Given the description of an element on the screen output the (x, y) to click on. 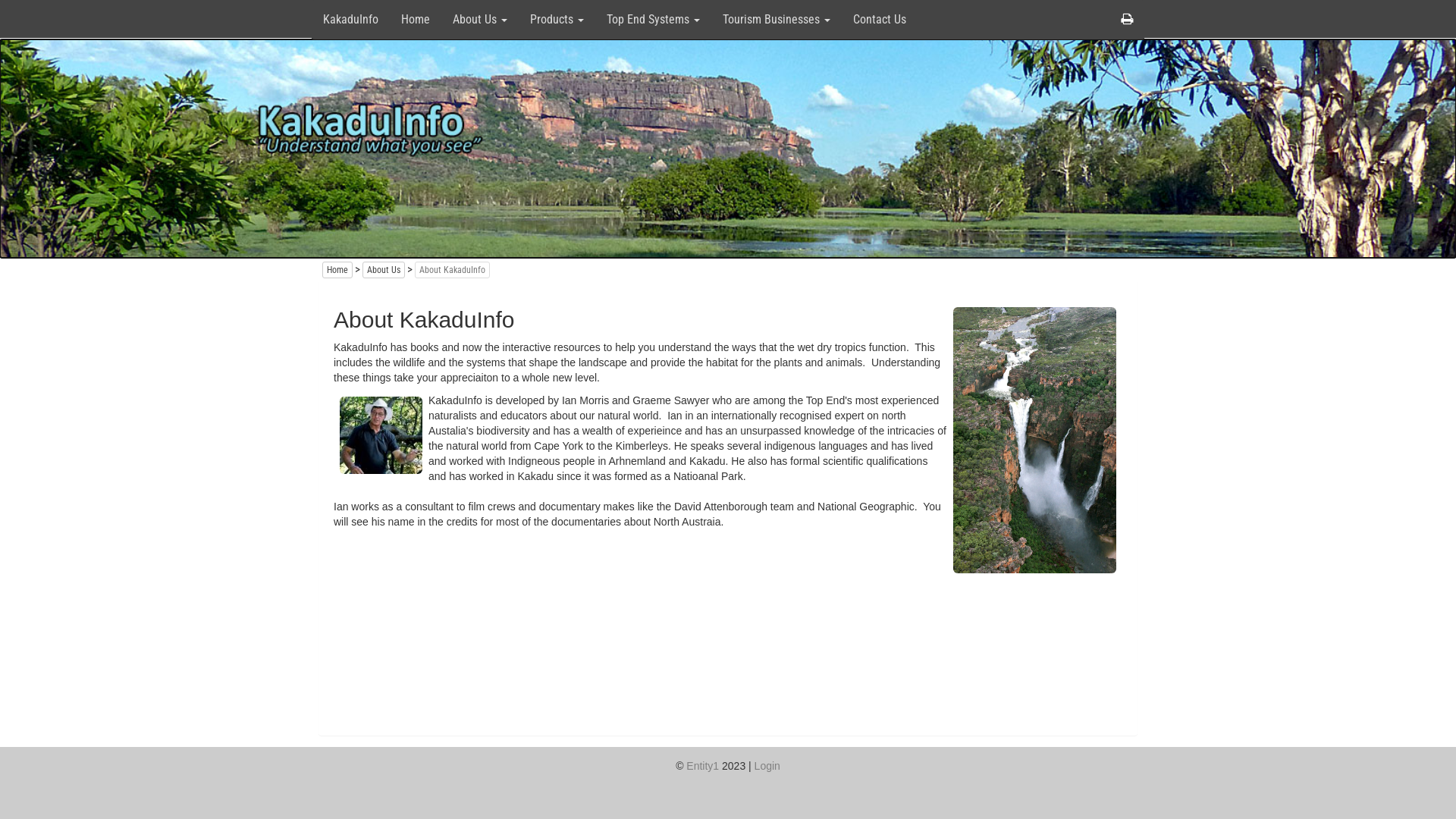
Tourism Businesses Element type: text (776, 19)
Login Element type: text (767, 765)
About Us Element type: text (383, 269)
Contact Us Element type: text (879, 19)
About Us Element type: text (479, 19)
Entity1 Element type: text (702, 765)
Products Element type: text (556, 19)
KakaduInfo Element type: text (350, 19)
Home Element type: text (337, 269)
Top End Systems Element type: text (653, 19)
Home Element type: text (415, 19)
